Given the description of an element on the screen output the (x, y) to click on. 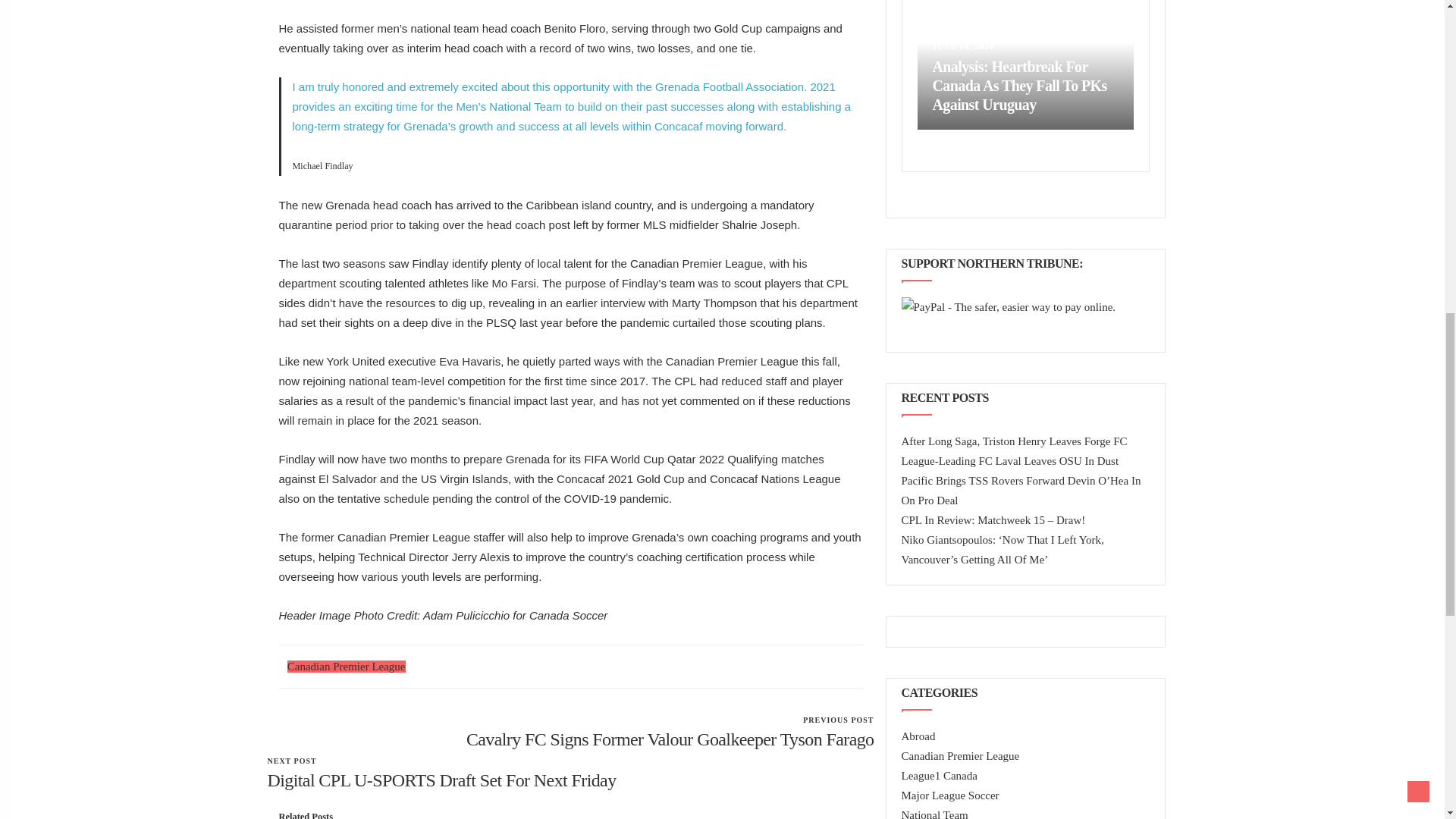
Eva Havaris (569, 772)
Mo Farsi (469, 360)
earlier interview with Marty Thompson (513, 282)
Canadian Premier League (661, 302)
reduced staff and player salaries (346, 666)
